Given the description of an element on the screen output the (x, y) to click on. 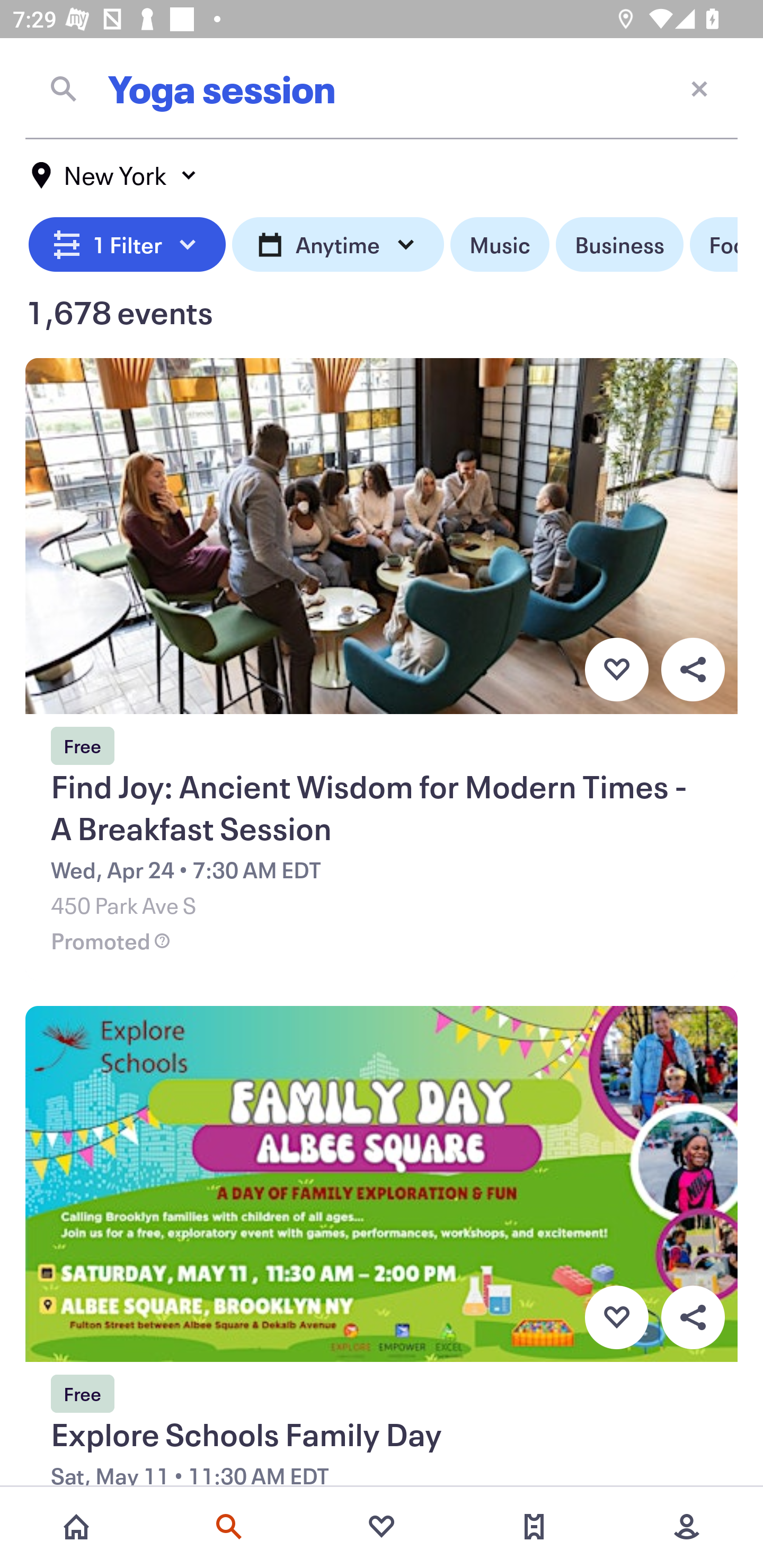
Yoga session Close current screen (381, 88)
Close current screen (699, 88)
New York (114, 175)
1 Filter (126, 244)
Anytime (337, 244)
Music (499, 244)
Business (619, 244)
Favorite button (616, 669)
Overflow menu button (692, 669)
Favorite button (616, 1317)
Overflow menu button (692, 1317)
Home (76, 1526)
Search events (228, 1526)
Favorites (381, 1526)
Tickets (533, 1526)
More (686, 1526)
